Given the description of an element on the screen output the (x, y) to click on. 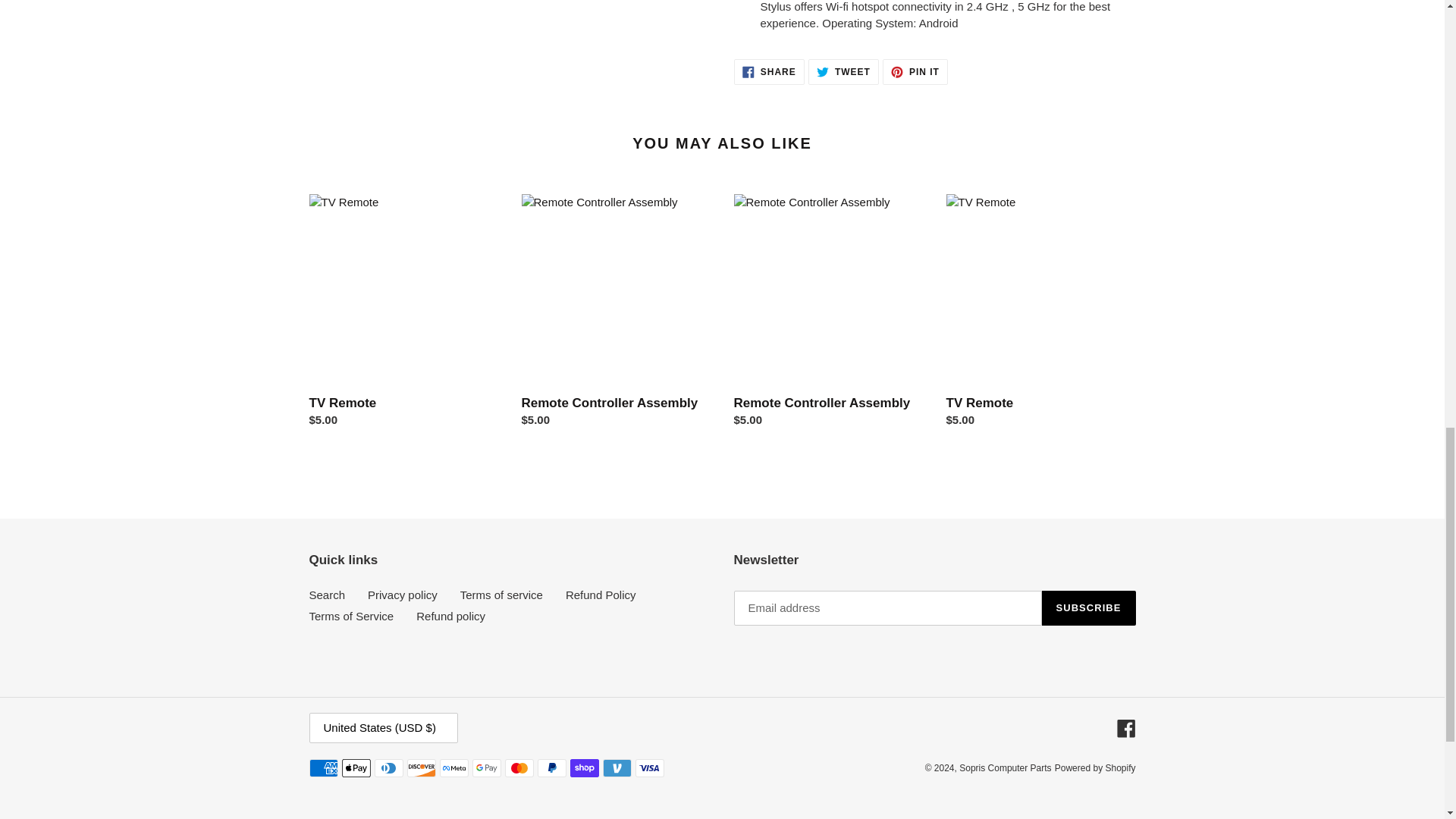
Refund policy (843, 71)
Terms of Service (450, 615)
Refund Policy (914, 71)
Terms of service (351, 615)
Privacy policy (769, 71)
SUBSCRIBE (601, 594)
Search (501, 594)
